Given the description of an element on the screen output the (x, y) to click on. 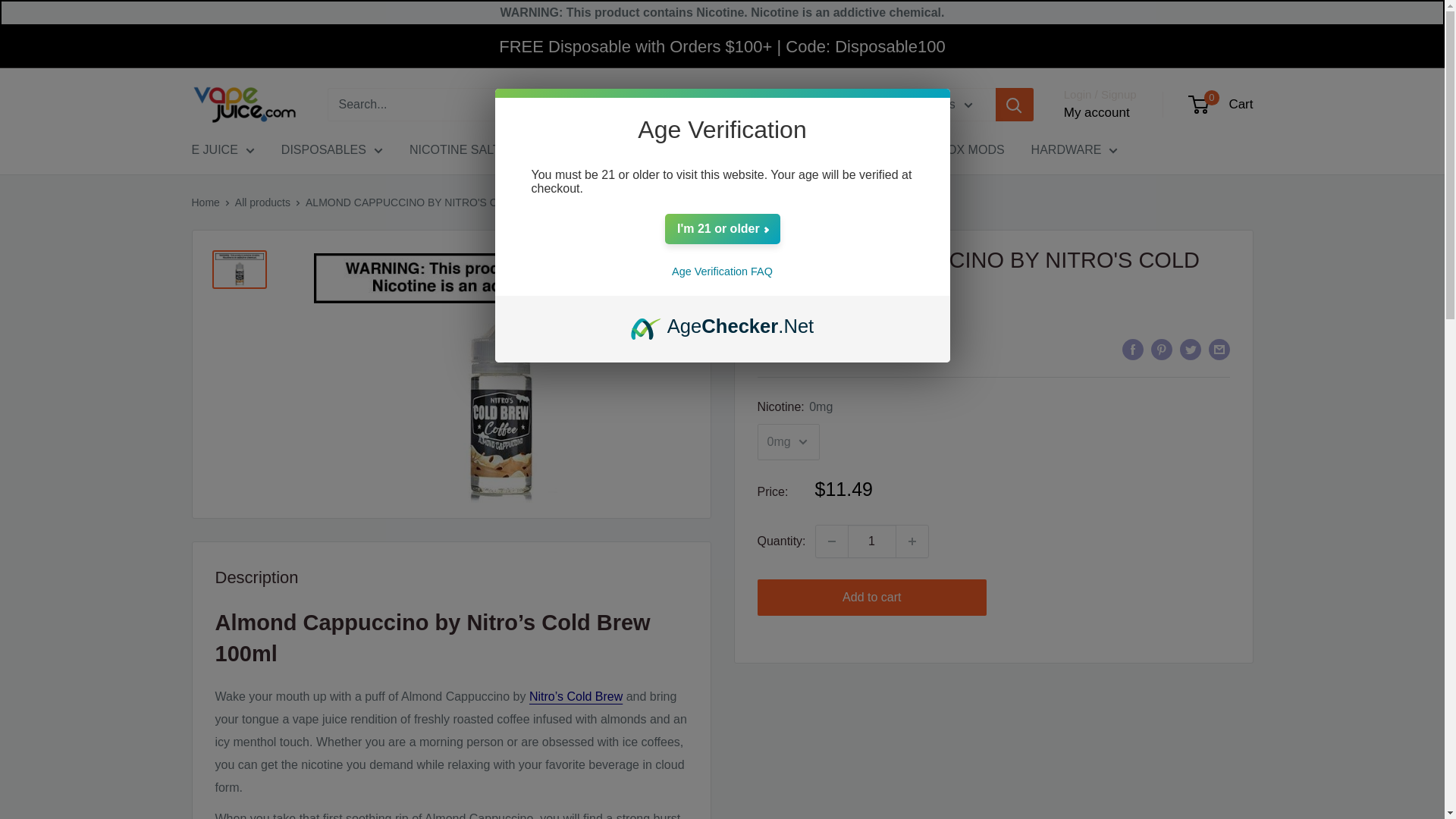
Increase quantity by 1 (912, 541)
1 (871, 541)
Decrease quantity by 1 (831, 541)
